Given the description of an element on the screen output the (x, y) to click on. 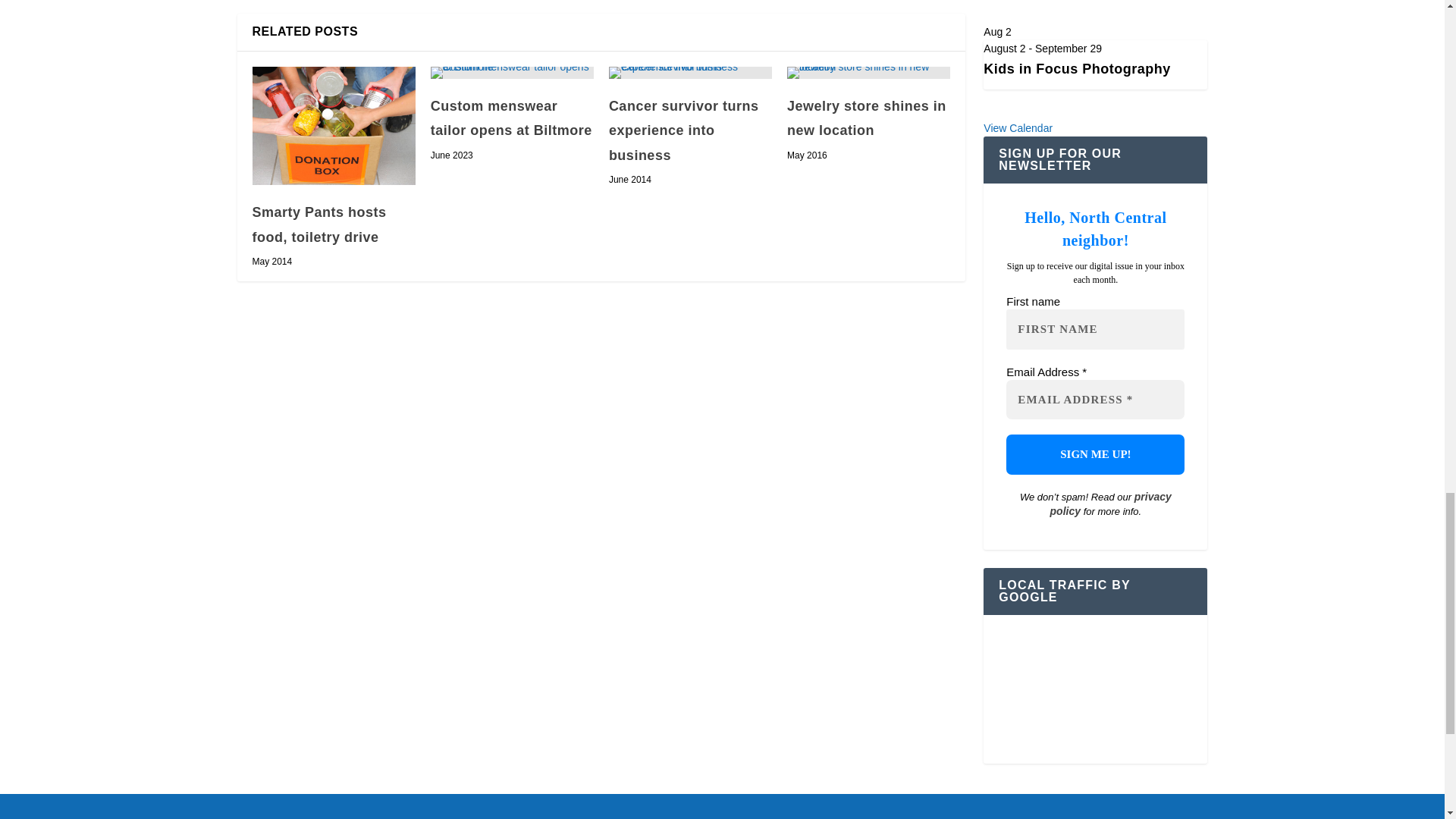
Custom menswear tailor opens at Biltmore (512, 72)
Jewelry store shines in new location (868, 72)
Smarty Pants hosts food, toiletry drive (318, 224)
Sign me up! (1095, 454)
Cancer survivor turns experience into business (689, 72)
Smarty Pants hosts food, toiletry drive (332, 125)
